Given the description of an element on the screen output the (x, y) to click on. 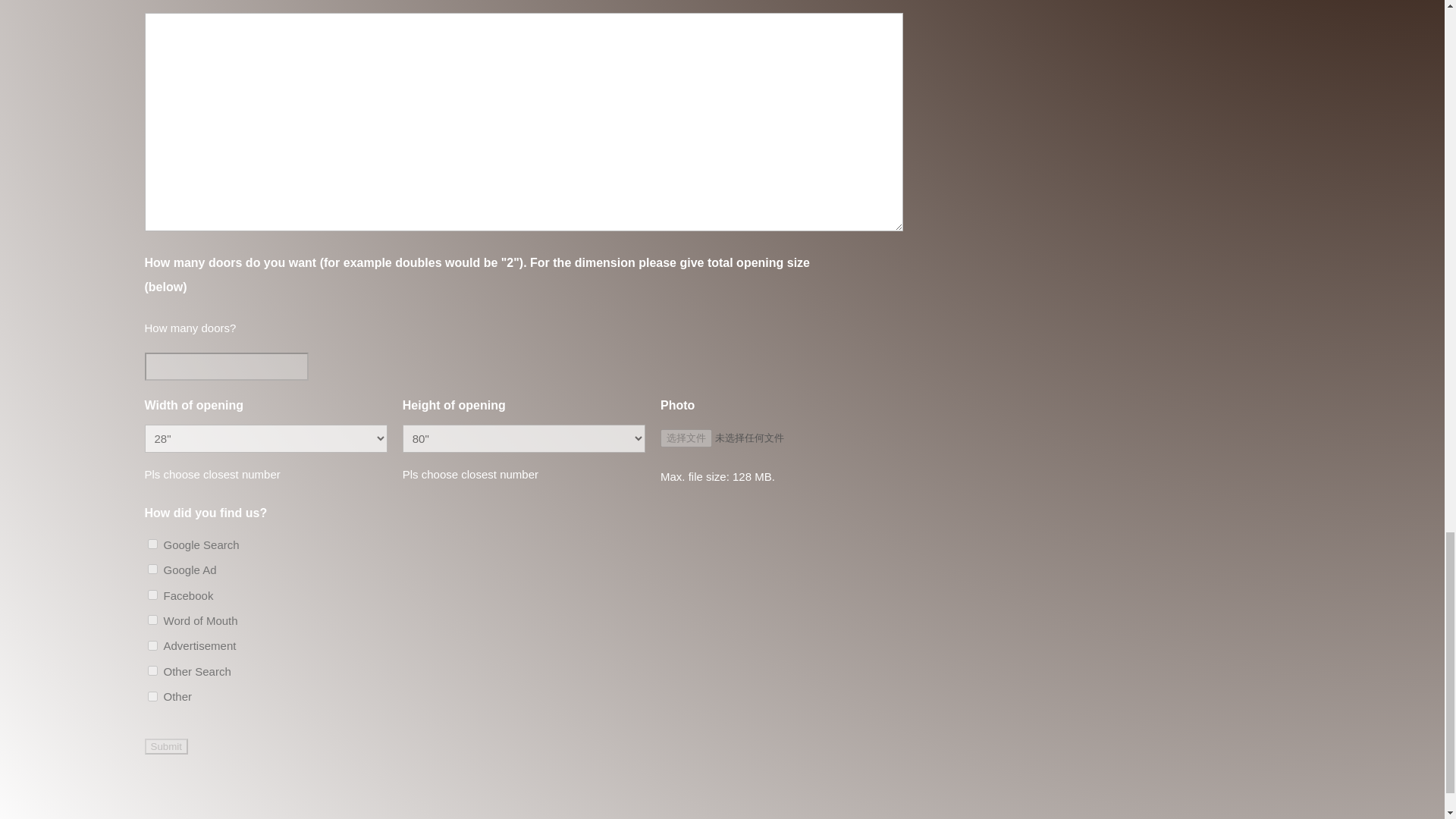
Submit (165, 746)
Google Ad (152, 569)
Google Search (152, 543)
Other (152, 696)
Facebook (152, 594)
Advertisement (152, 645)
Other Search (152, 670)
Word of Mouth (152, 619)
